Given the description of an element on the screen output the (x, y) to click on. 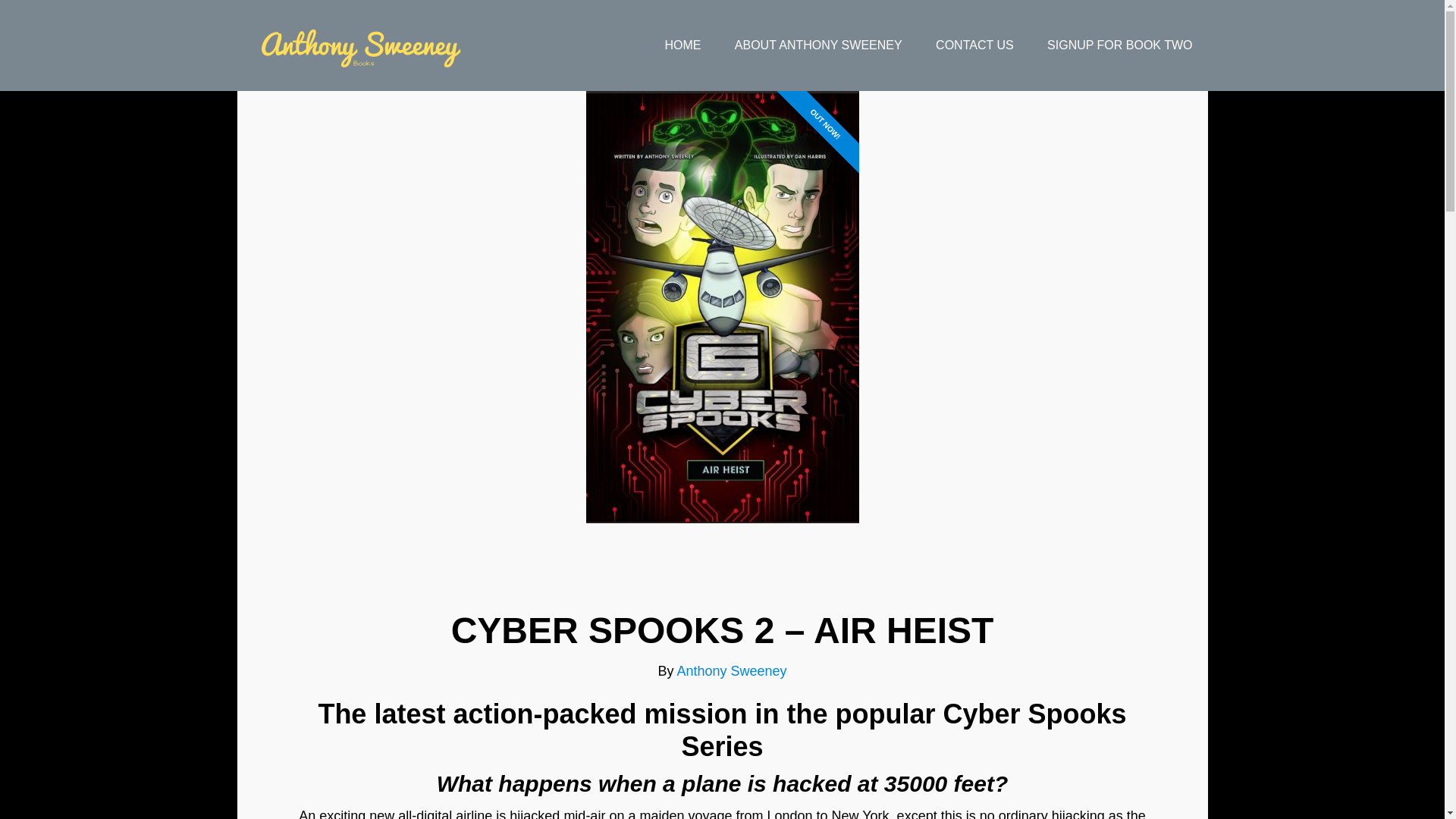
Anthony Sweeney (357, 45)
Anthony Sweeney (731, 670)
CONTACT US (974, 45)
SIGNUP FOR BOOK TWO (1119, 45)
ABOUT ANTHONY SWEENEY (818, 45)
